Given the description of an element on the screen output the (x, y) to click on. 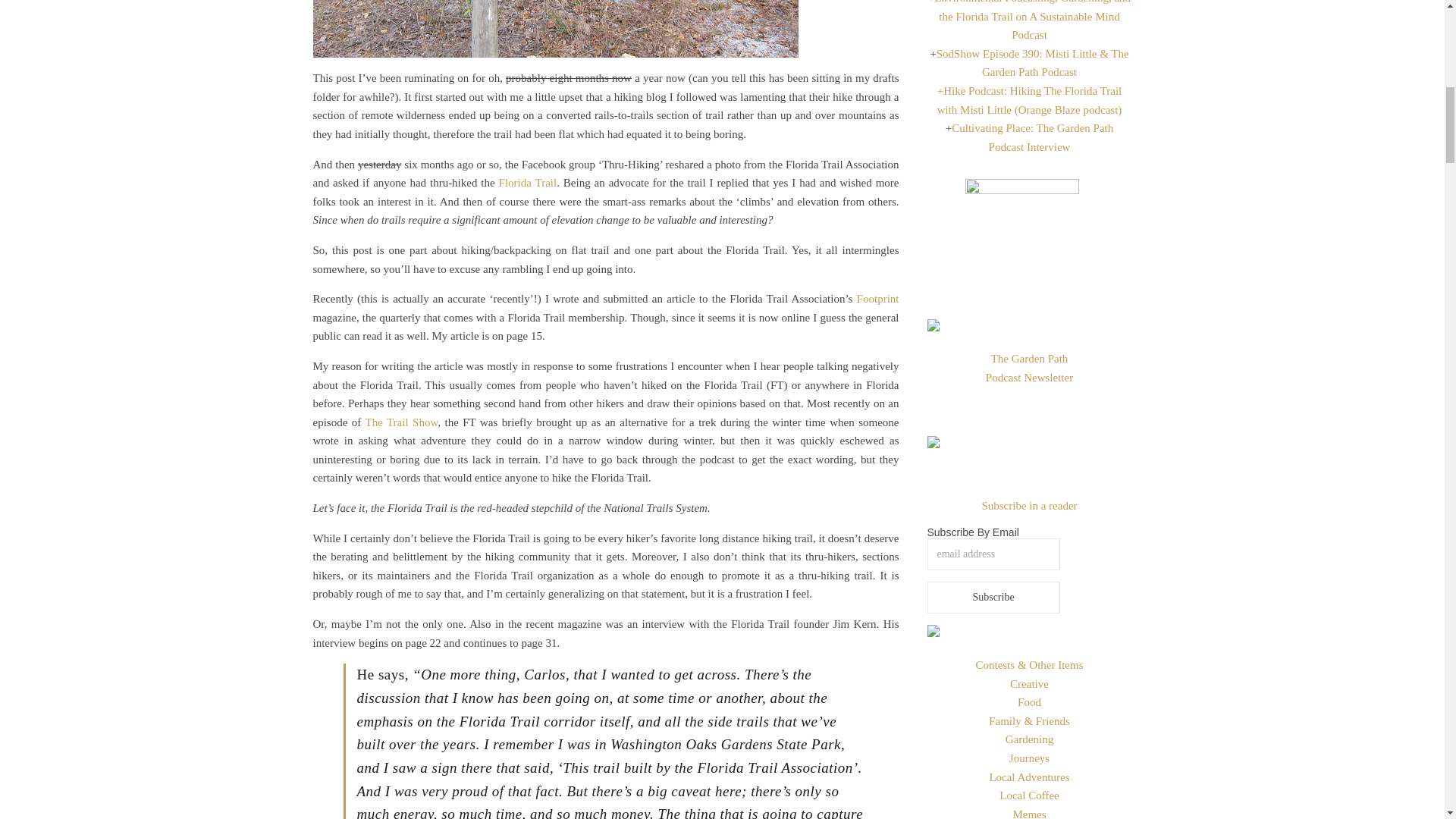
Subscribe (992, 597)
Footprint (878, 298)
The Trail Show (401, 422)
Subscribe to my feed (1029, 505)
Florida Trail (528, 182)
